Given the description of an element on the screen output the (x, y) to click on. 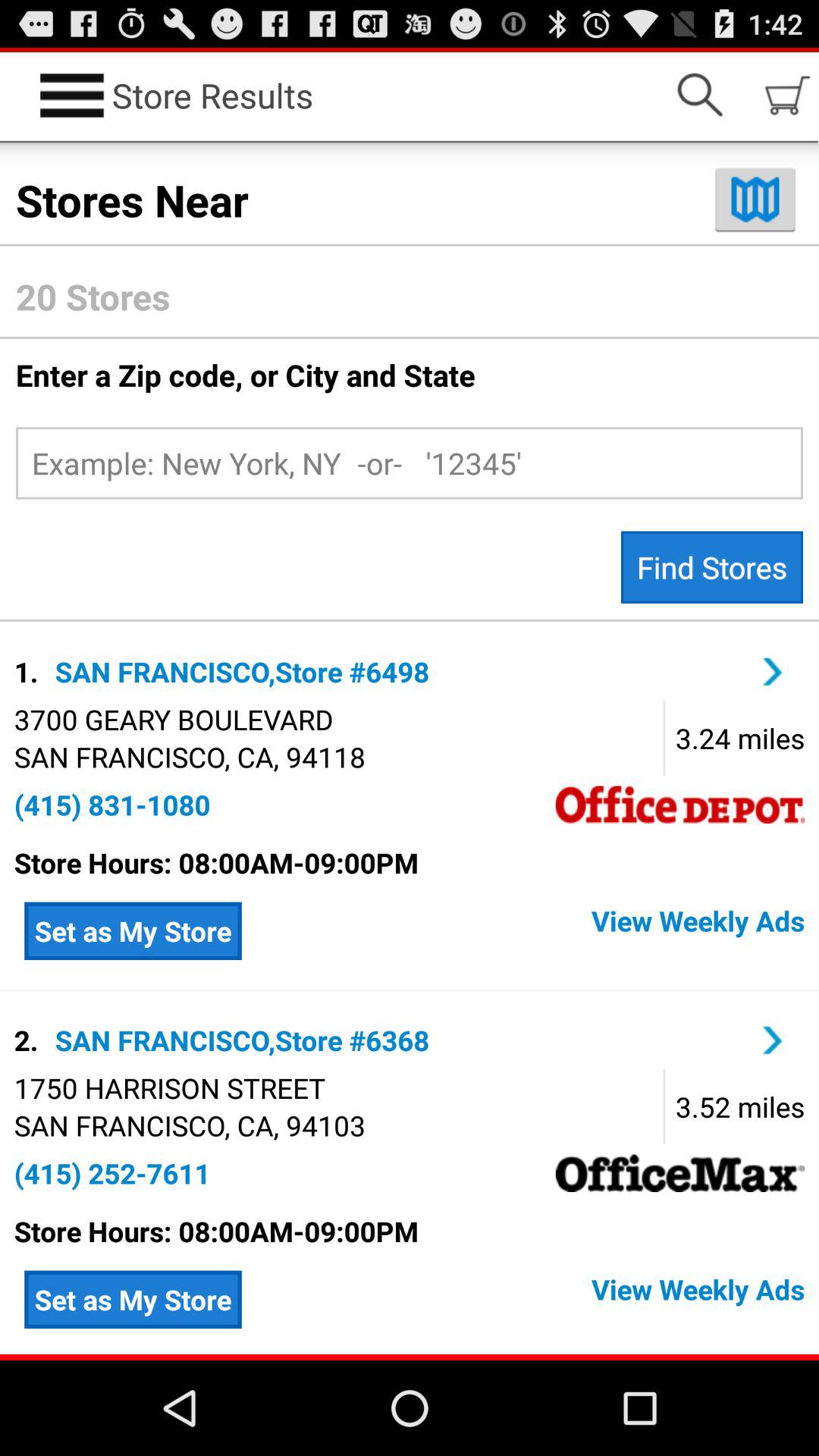
click the (415) 831-1080 app (112, 804)
